Given the description of an element on the screen output the (x, y) to click on. 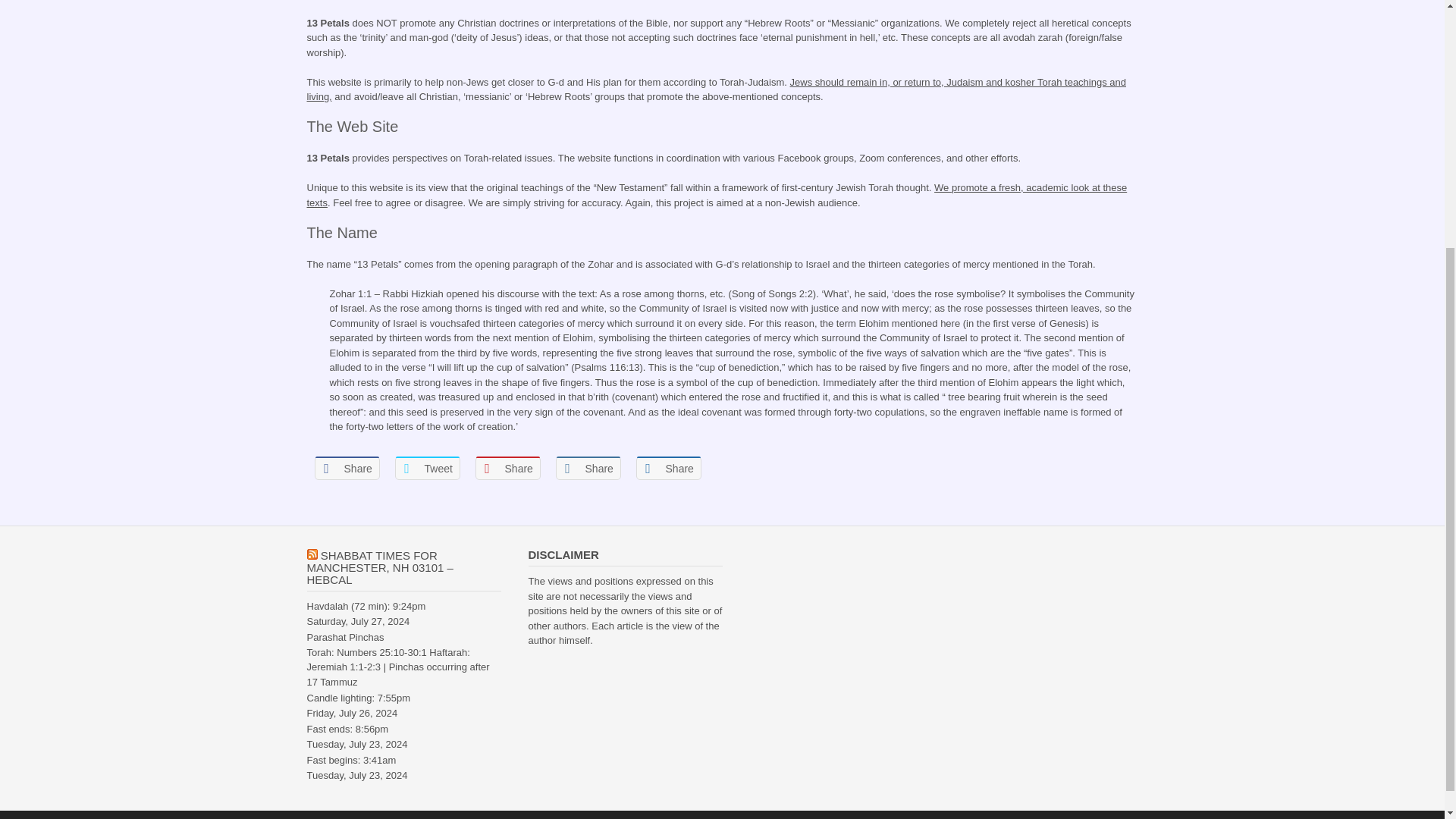
Share (667, 467)
Share (507, 467)
Share on Pinterest (507, 467)
Tweet (427, 467)
Fast begins: 3:41am (350, 759)
Parashat Pinchas (344, 636)
Fast ends: 8:56pm (346, 728)
Candle lighting: 7:55pm (357, 697)
Share on LinkedIn (587, 467)
Share on Facebook (346, 467)
Share on Digg (667, 467)
Share on Twitter (427, 467)
Share (587, 467)
Share (346, 467)
